Given the description of an element on the screen output the (x, y) to click on. 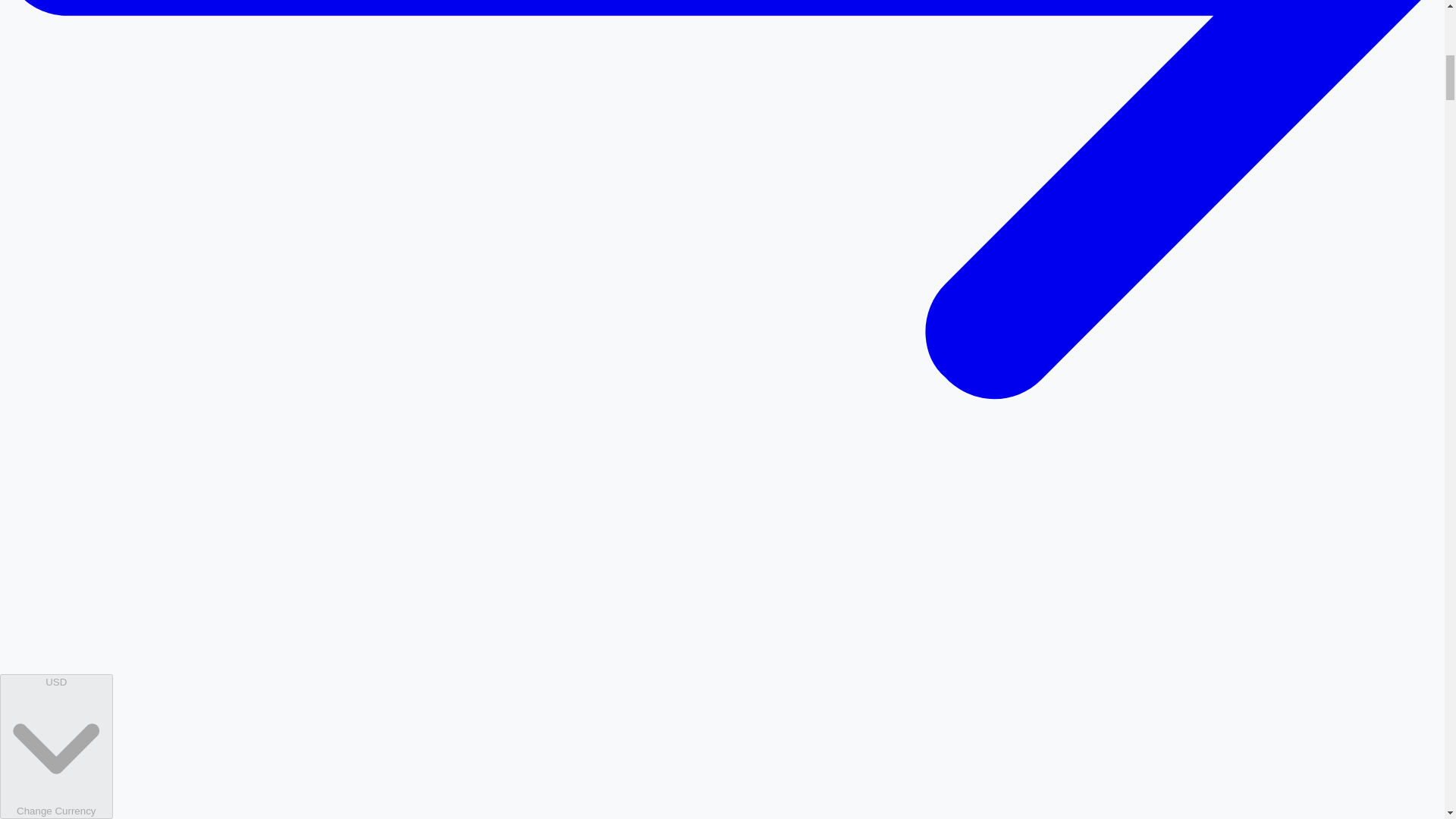
USDChange Currency (56, 746)
